Given the description of an element on the screen output the (x, y) to click on. 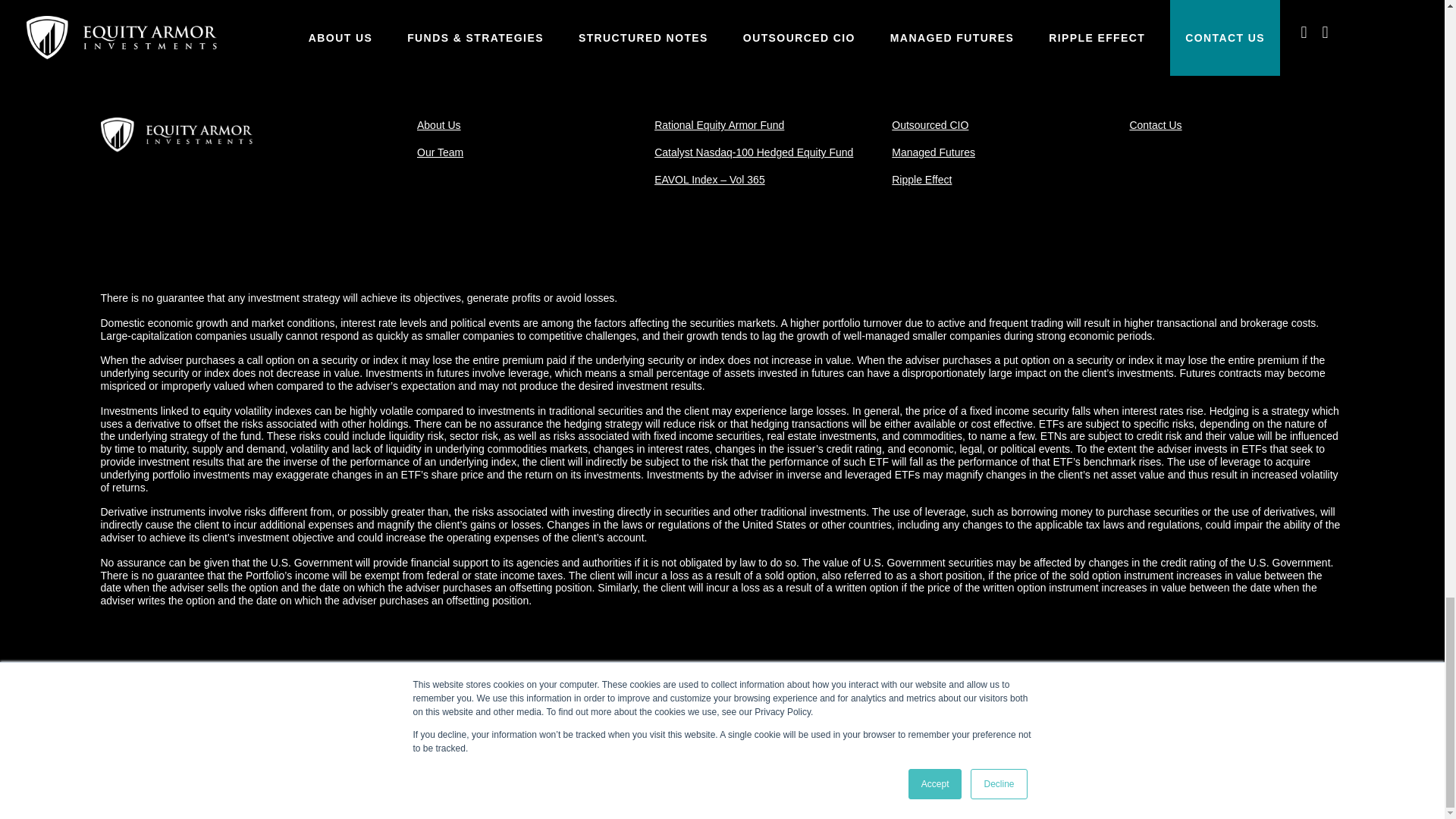
Catalyst Nasdaq-100 Hedged Equity Fund (753, 151)
About Us (438, 124)
Our Team (439, 151)
Rational Equity Armor Fund (718, 124)
Our Team (439, 151)
About Us (438, 124)
